Given the description of an element on the screen output the (x, y) to click on. 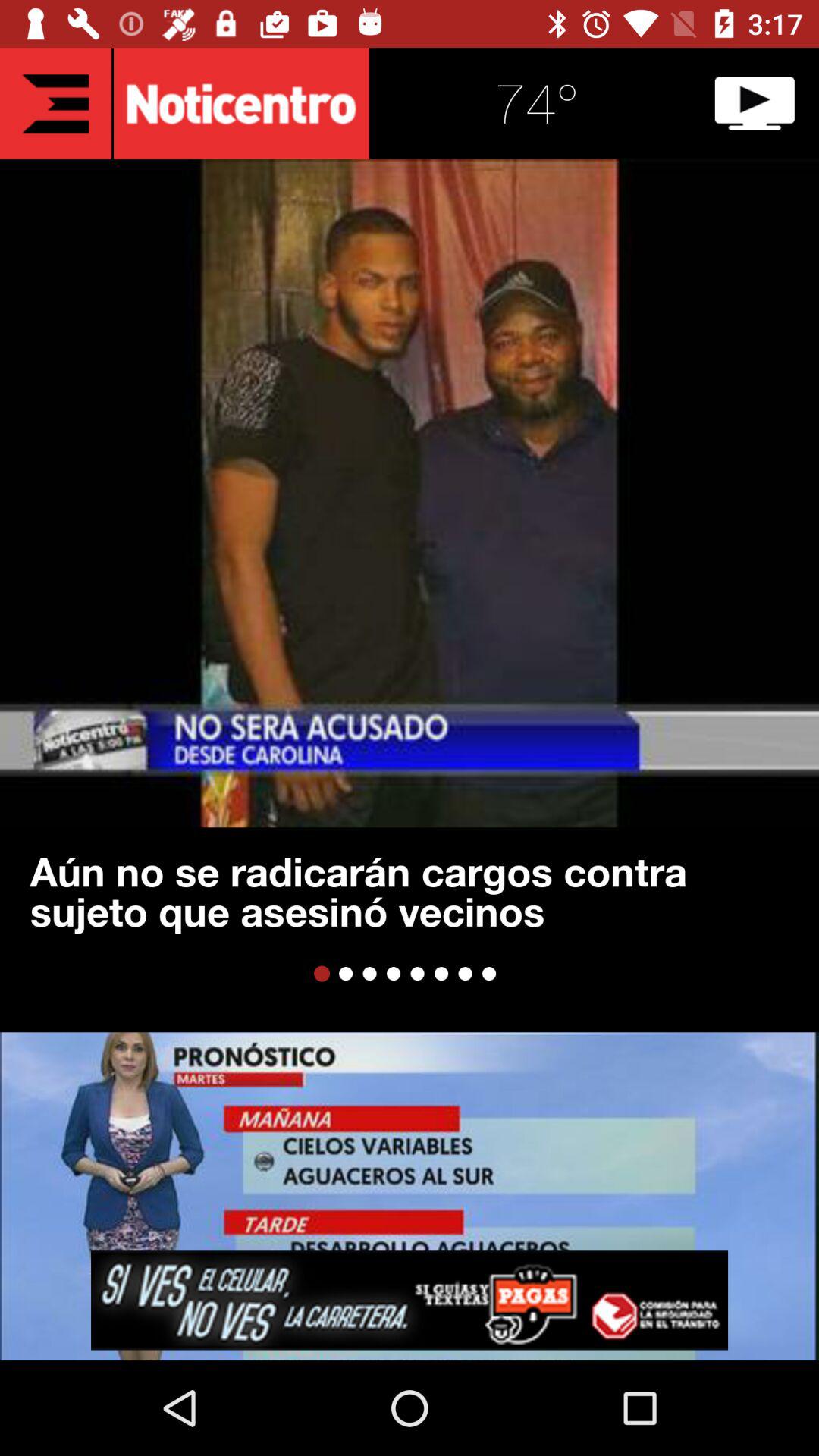
menu options (55, 103)
